Given the description of an element on the screen output the (x, y) to click on. 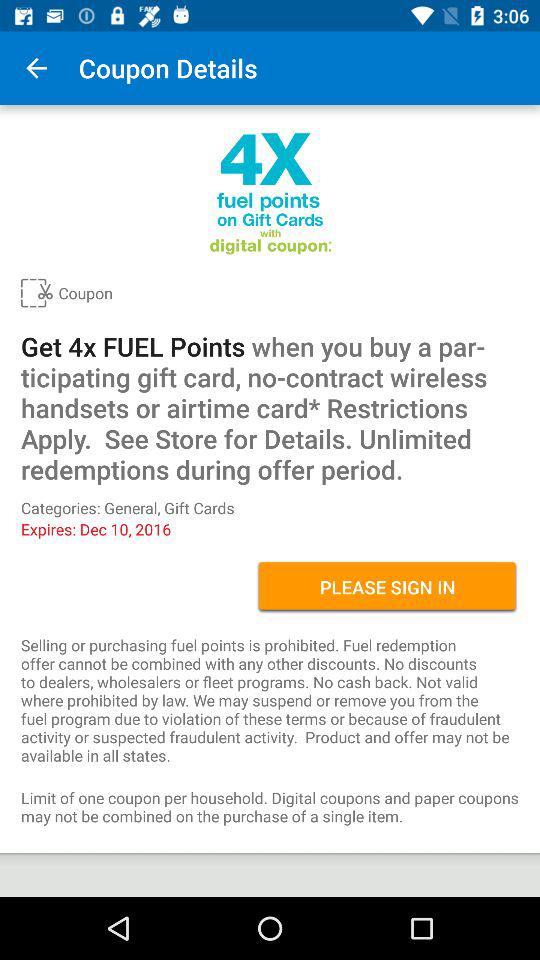
launch item to the left of the coupon details (36, 68)
